Given the description of an element on the screen output the (x, y) to click on. 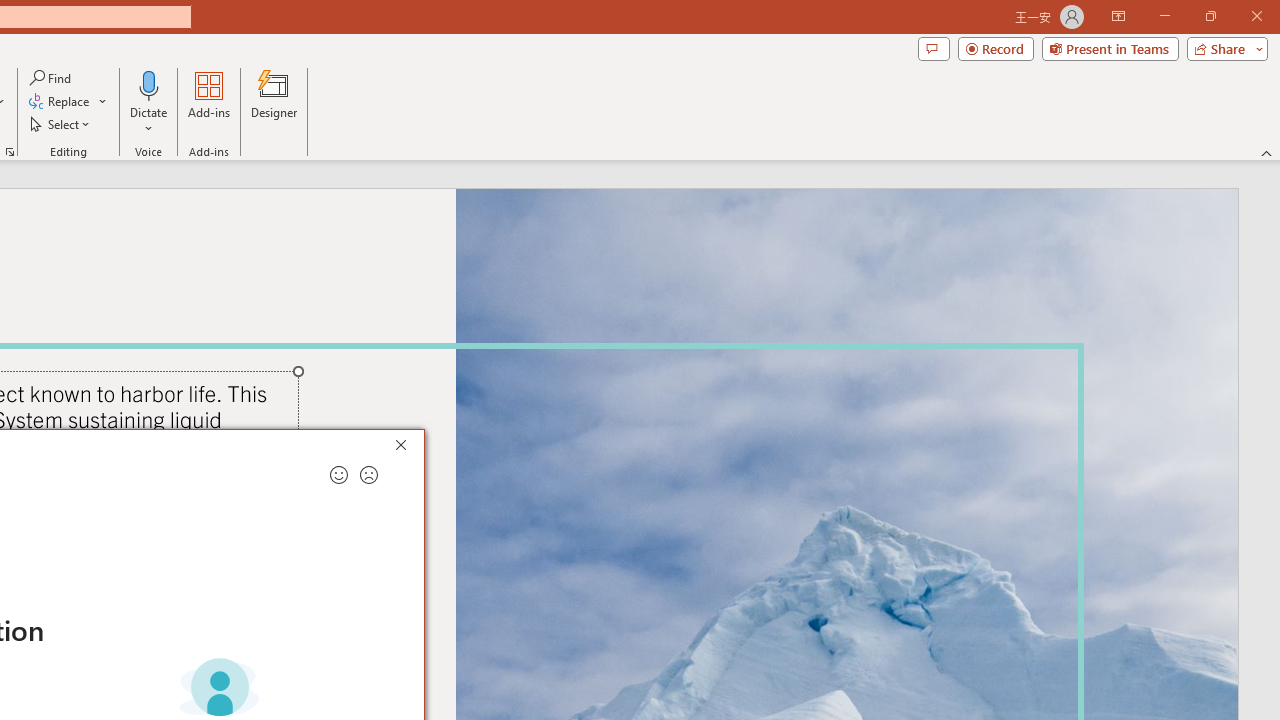
Send a smile for feedback (338, 475)
Select (61, 124)
